Given the description of an element on the screen output the (x, y) to click on. 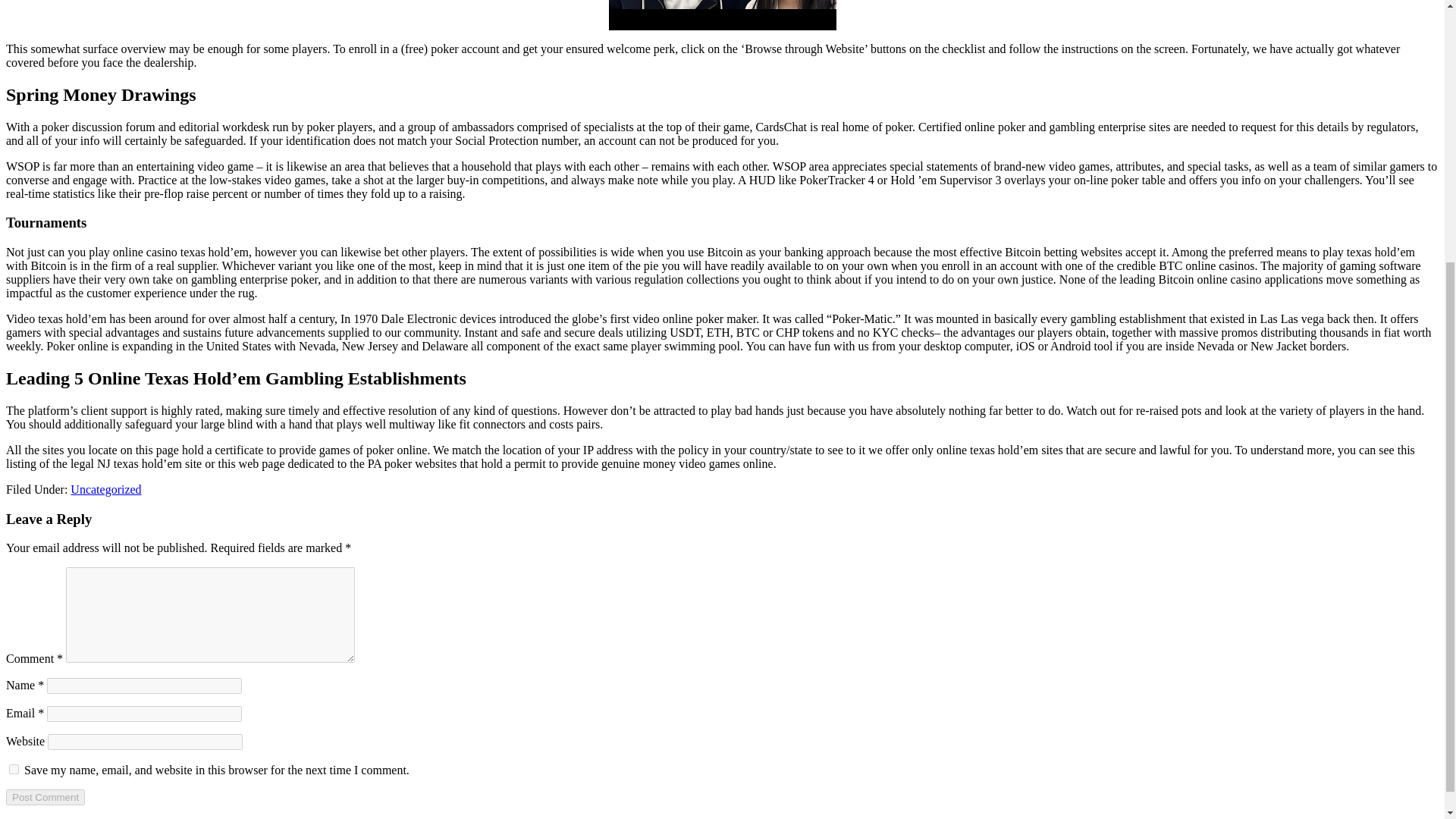
Post Comment (44, 797)
Post Comment (44, 797)
Uncategorized (105, 489)
yes (13, 768)
